Given the description of an element on the screen output the (x, y) to click on. 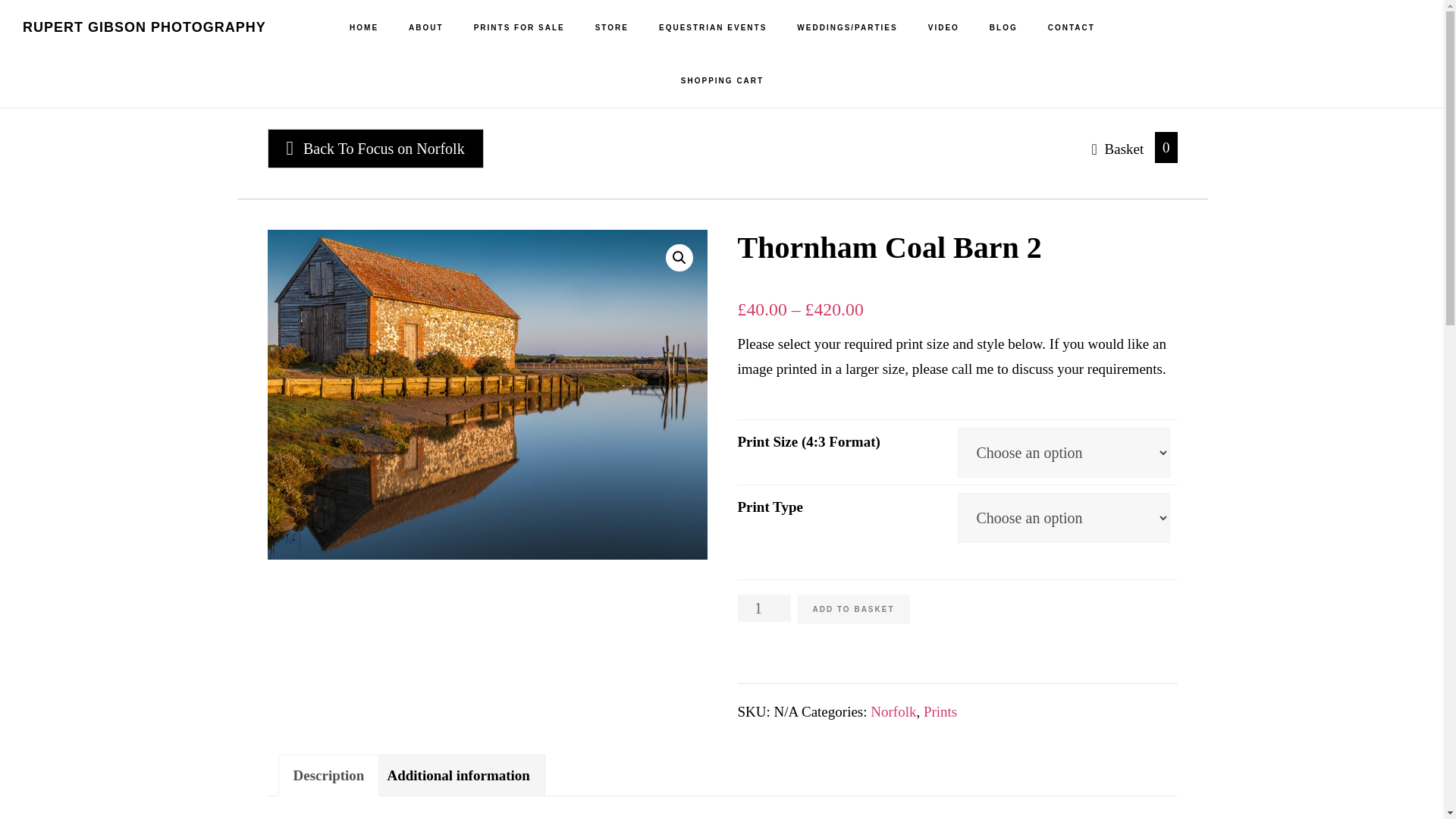
EQUESTRIAN EVENTS (712, 27)
RUPERT GIBSON PHOTOGRAPHY (144, 27)
View your shopping cart (1118, 146)
HOME (363, 27)
PRINTS FOR SALE (518, 27)
STORE (611, 27)
ABOUT (425, 27)
1 (763, 607)
